Given the description of an element on the screen output the (x, y) to click on. 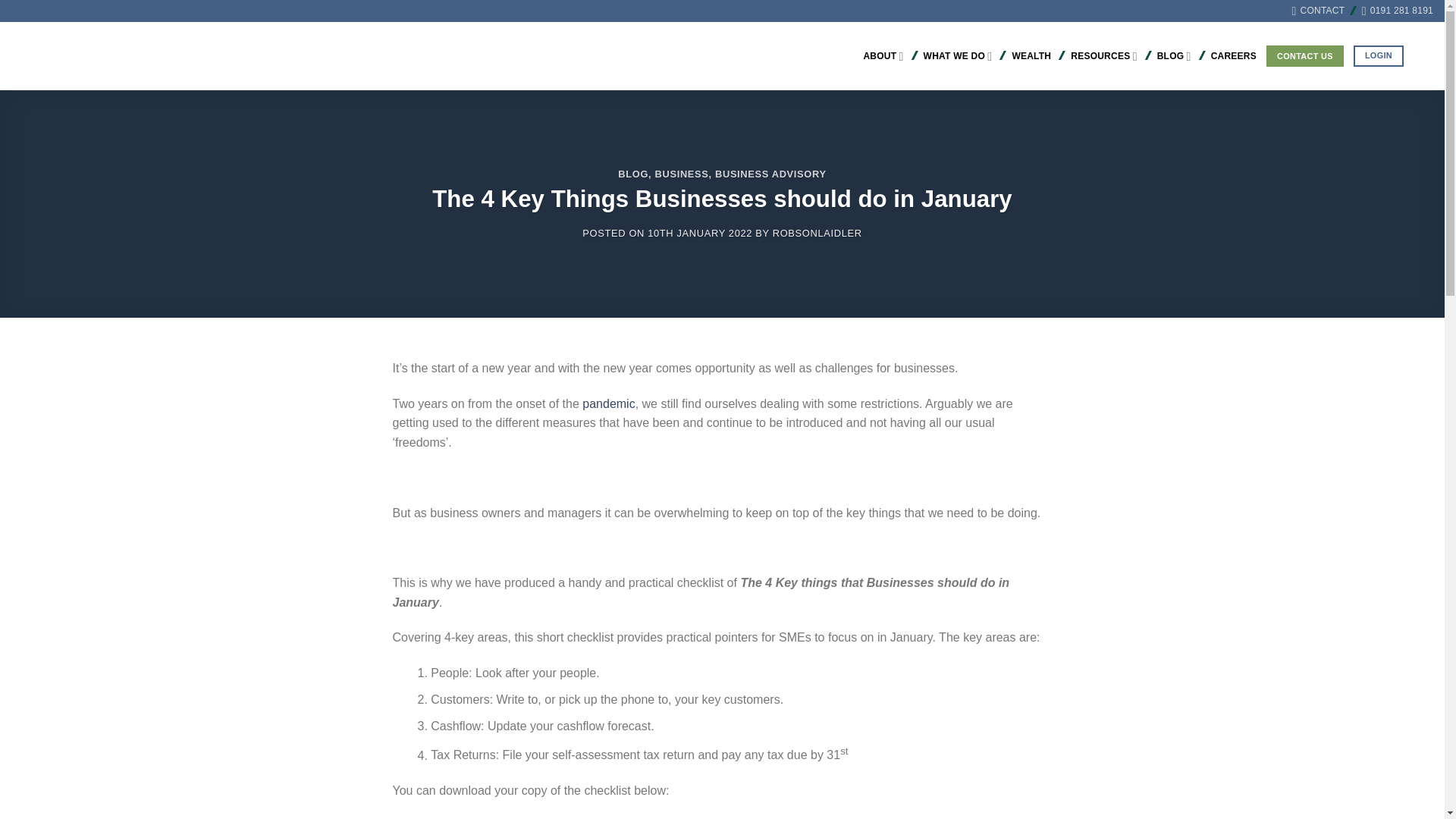
CONTACT US (1304, 55)
RESOURCES (1103, 56)
BLOG (1174, 56)
0191 281 8191 (1396, 11)
CONTACT (1317, 11)
WHAT WE DO (957, 56)
0191 281 8191 (1396, 11)
ABOUT (882, 56)
WEALTH (1031, 55)
CAREERS (1233, 55)
LOGIN (1378, 55)
Robson Laidler - Robson Laidler (137, 56)
